Given the description of an element on the screen output the (x, y) to click on. 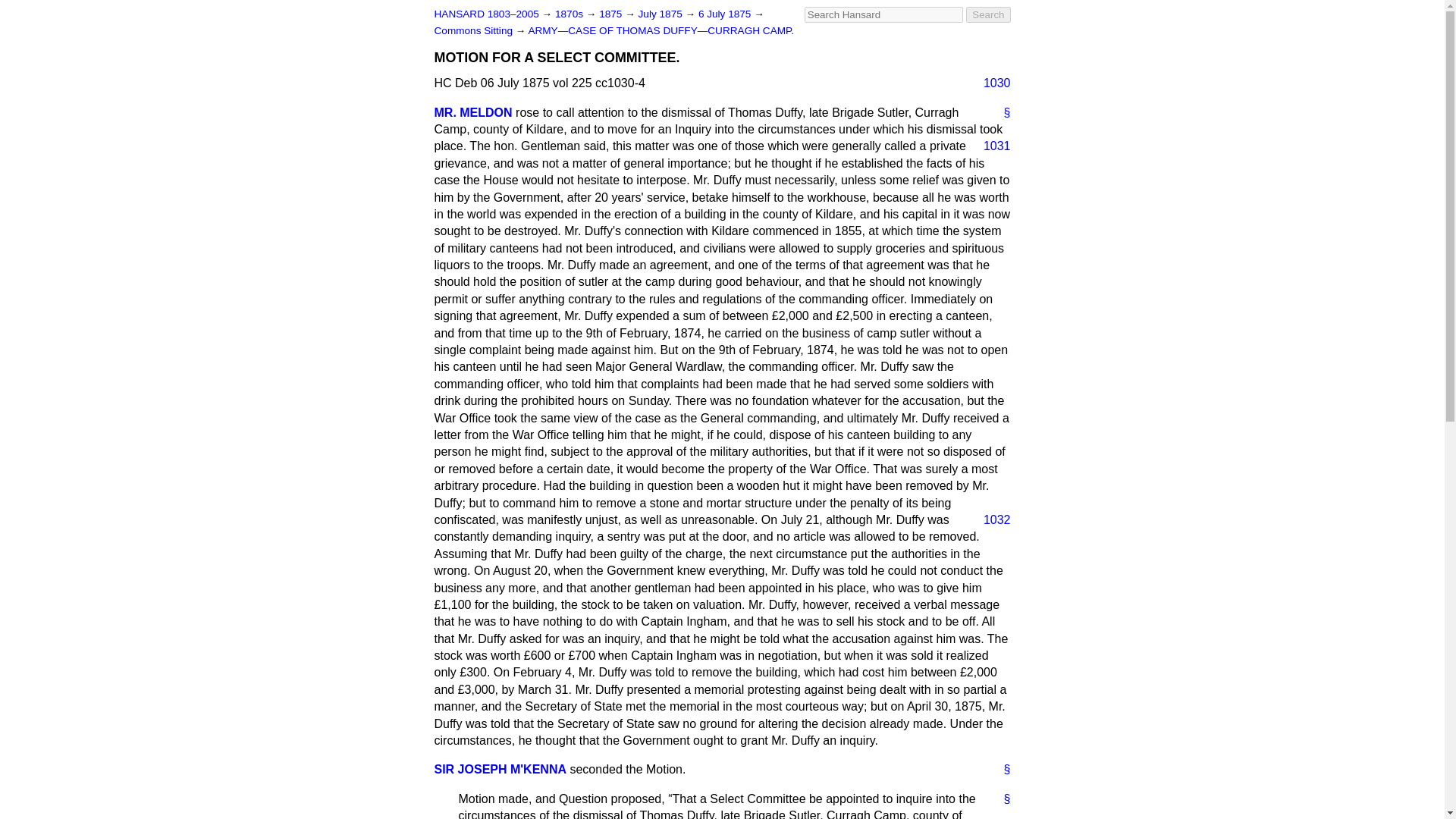
Sir Joseph McKenna (499, 768)
Link to this contribution (1000, 799)
Commons Sitting (474, 30)
MR. MELDON (472, 112)
SIR JOSEPH M'KENNA (499, 768)
1031 (990, 146)
1032 (990, 519)
July 1875 (662, 13)
Access key: S (883, 14)
1875 (611, 13)
